Given the description of an element on the screen output the (x, y) to click on. 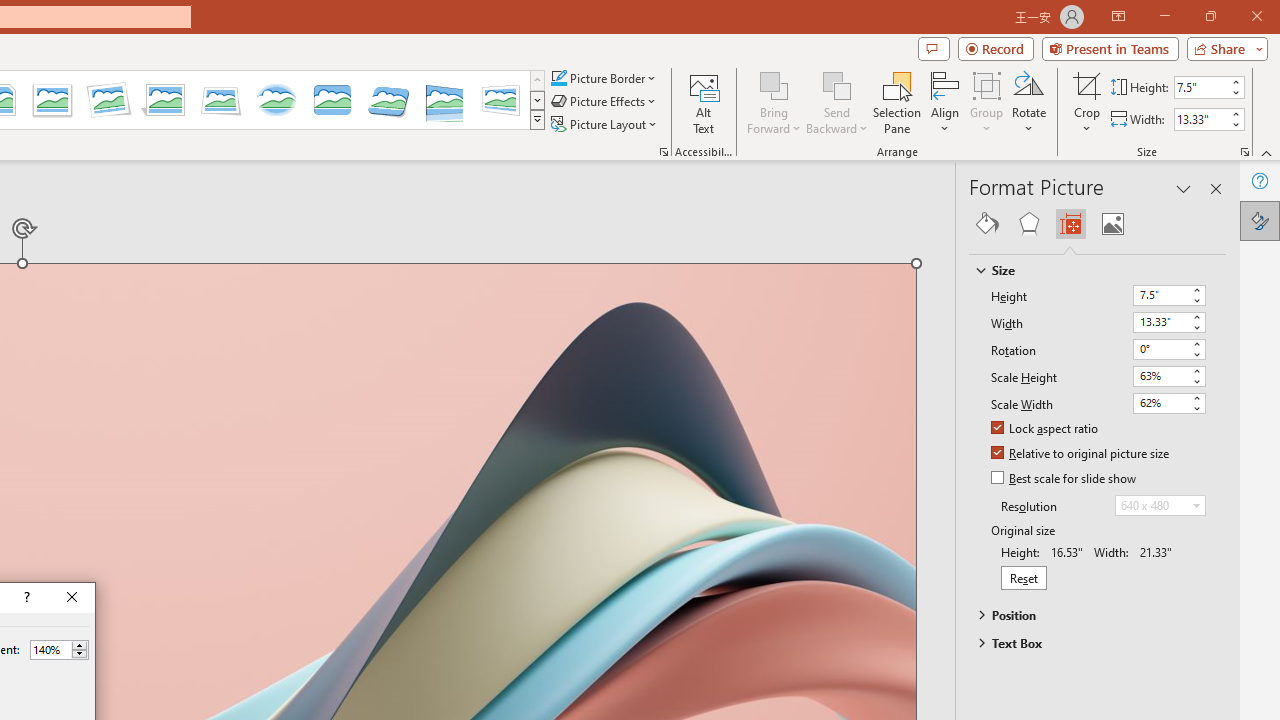
Shape Height (1201, 87)
Picture (1112, 223)
Position (1088, 615)
Send Backward (836, 102)
Relative to original picture size (1081, 453)
Class: NetUIGalleryContainer (1098, 223)
Scale Height (1160, 376)
Group (987, 102)
Crop (1087, 102)
Bevel Perspective Left, White (500, 100)
